Given the description of an element on the screen output the (x, y) to click on. 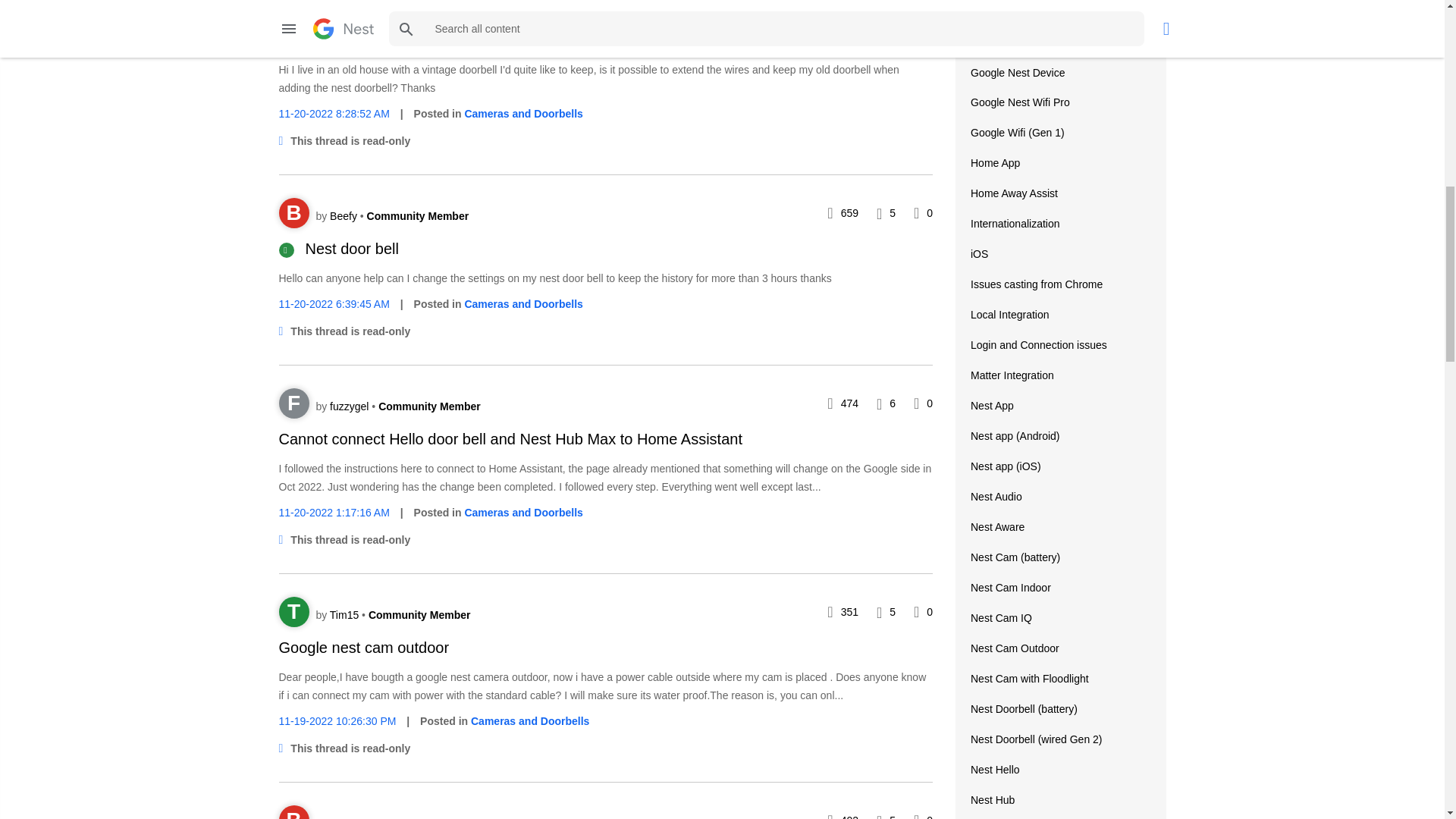
View profile (293, 9)
View profile (293, 213)
View profile (344, 215)
View profile (351, 7)
Nest door bell (351, 248)
Use nest with existing doorbell (381, 39)
